Given the description of an element on the screen output the (x, y) to click on. 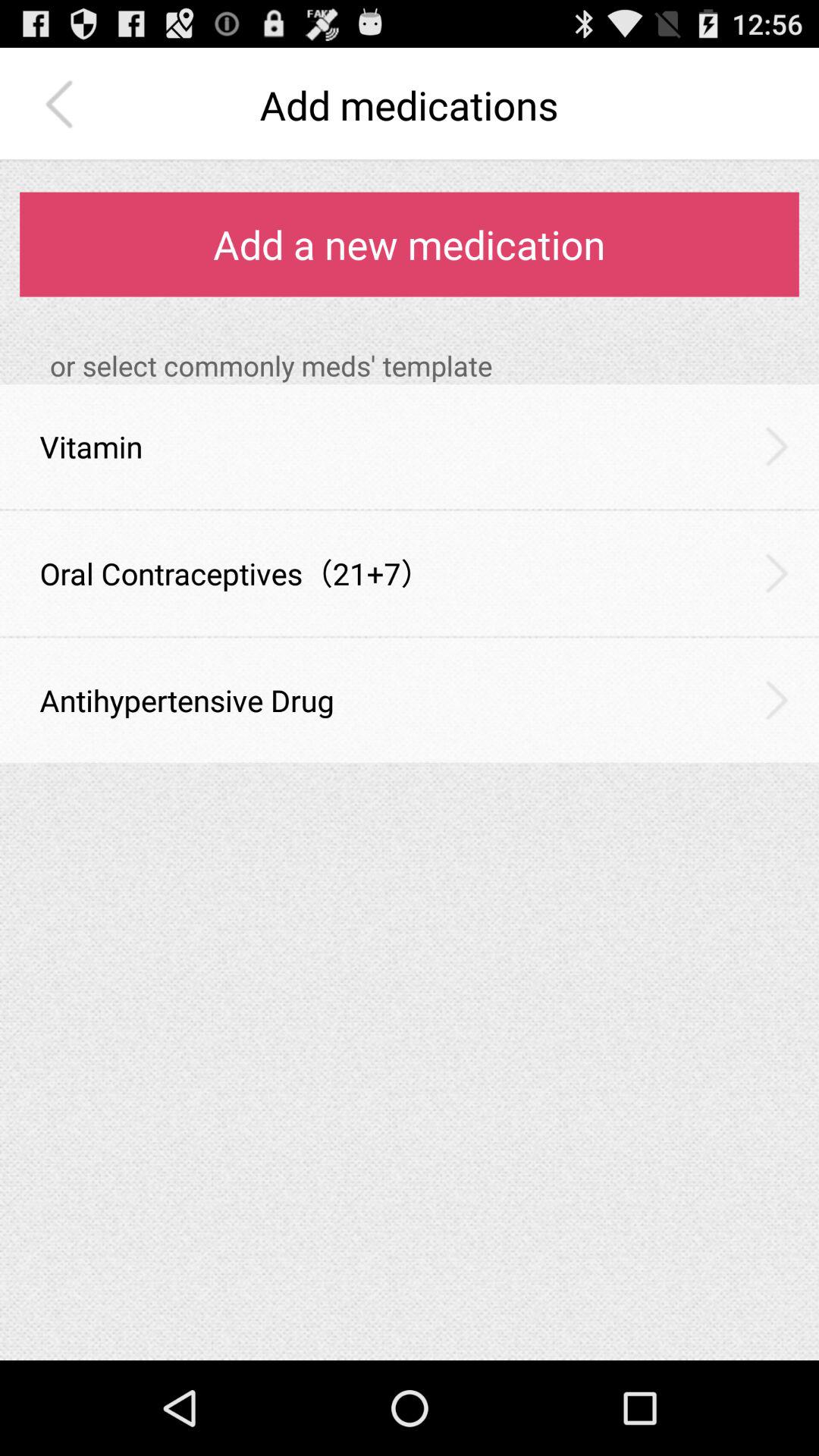
press item above the add a new item (63, 104)
